Given the description of an element on the screen output the (x, y) to click on. 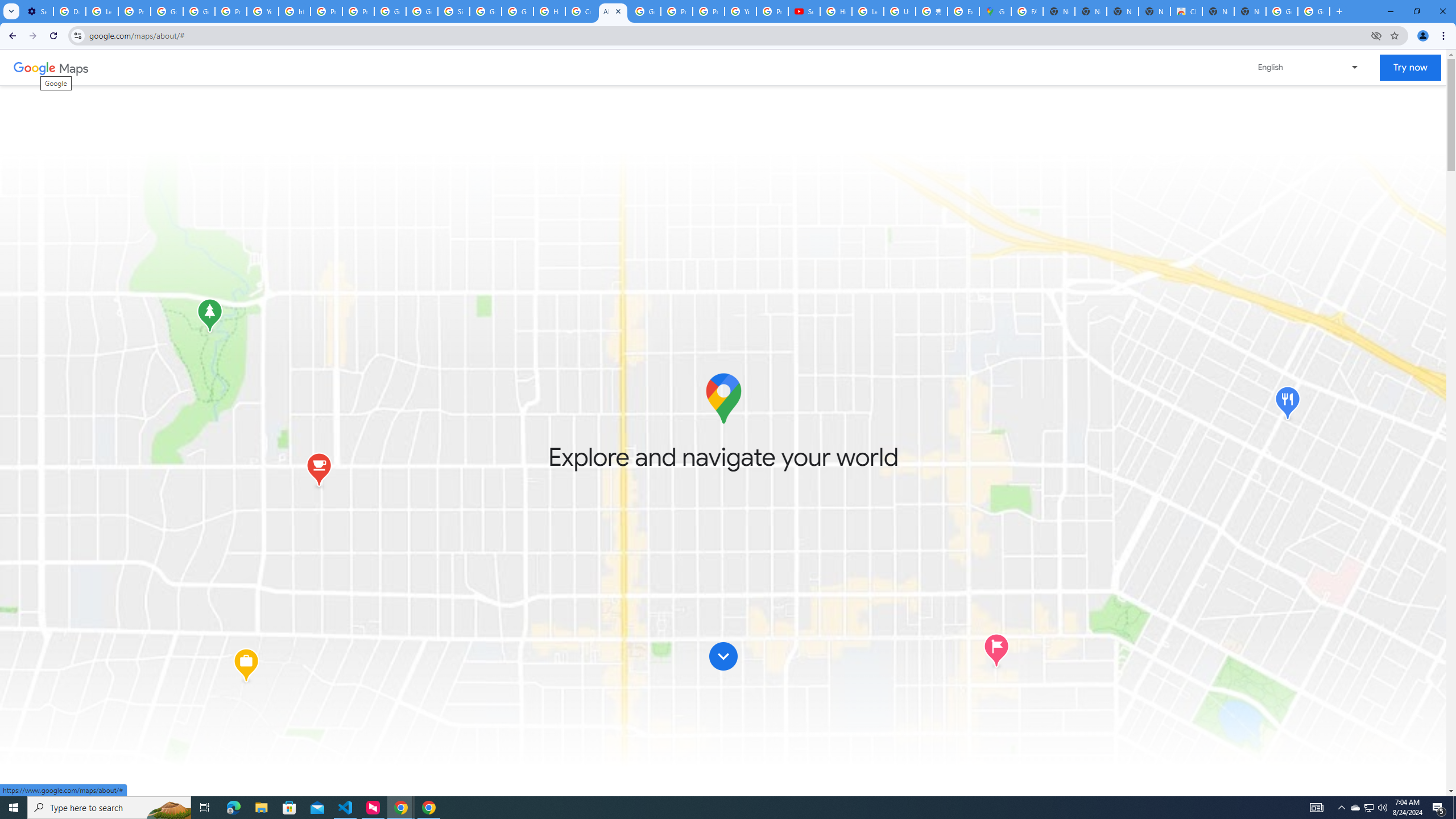
https://scholar.google.com/ (294, 11)
Google Images (1281, 11)
Address and search bar (726, 35)
Google Maps (995, 11)
System (6, 6)
Google Account Help (198, 11)
Forward (32, 35)
Subscriptions - YouTube (804, 11)
How Chrome protects your passwords - Google Chrome Help (836, 11)
Google Maps logo (722, 398)
Create your Google Account (581, 11)
Sign in - Google Accounts (453, 11)
